Given the description of an element on the screen output the (x, y) to click on. 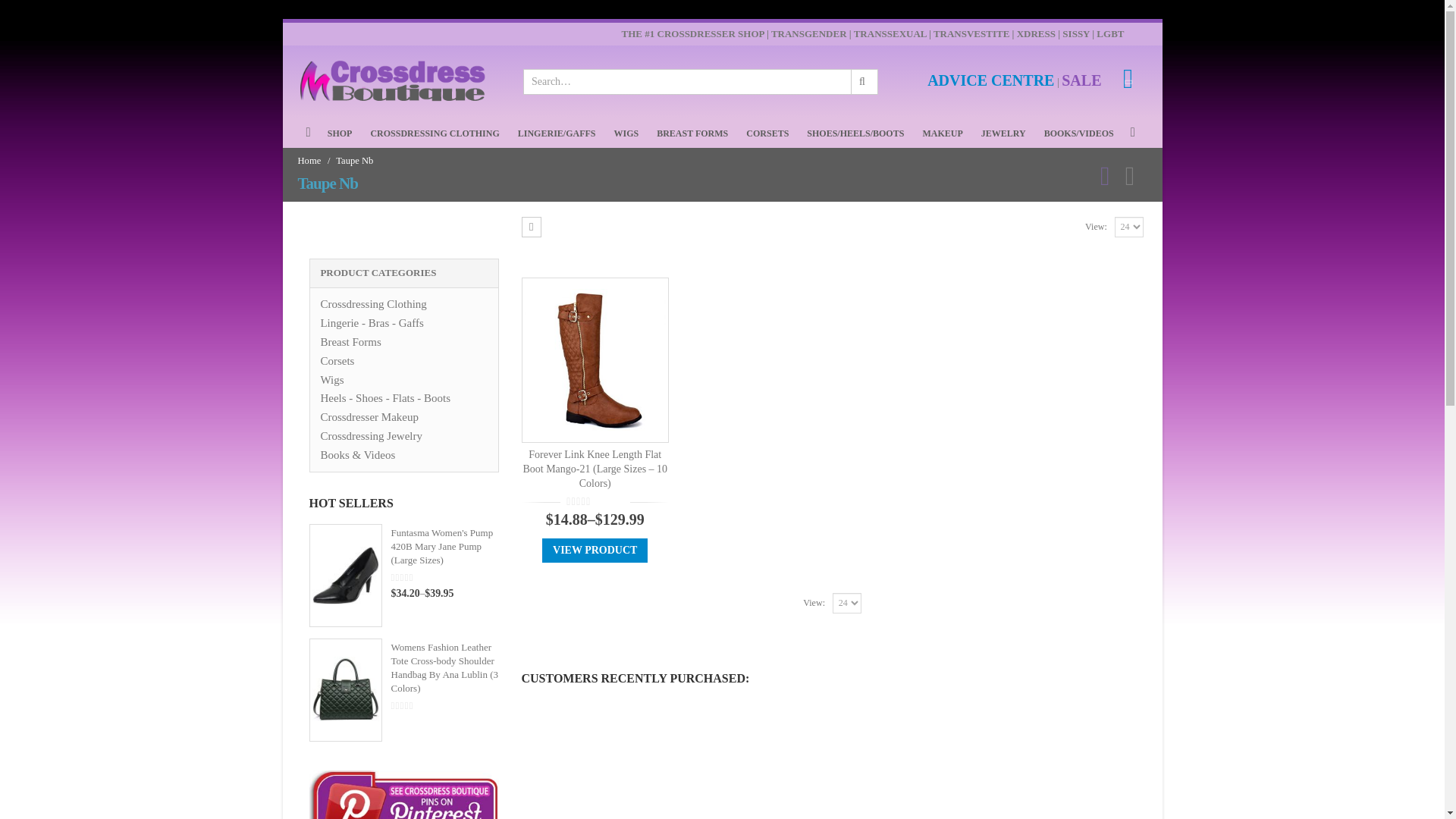
SHOP (339, 132)
ADVICE CENTRE (990, 81)
Grid View (531, 227)
WIGS (625, 132)
CROSSDRESSING CLOTHING (433, 132)
SALE (1080, 81)
0 (595, 501)
Search (862, 81)
